Given the description of an element on the screen output the (x, y) to click on. 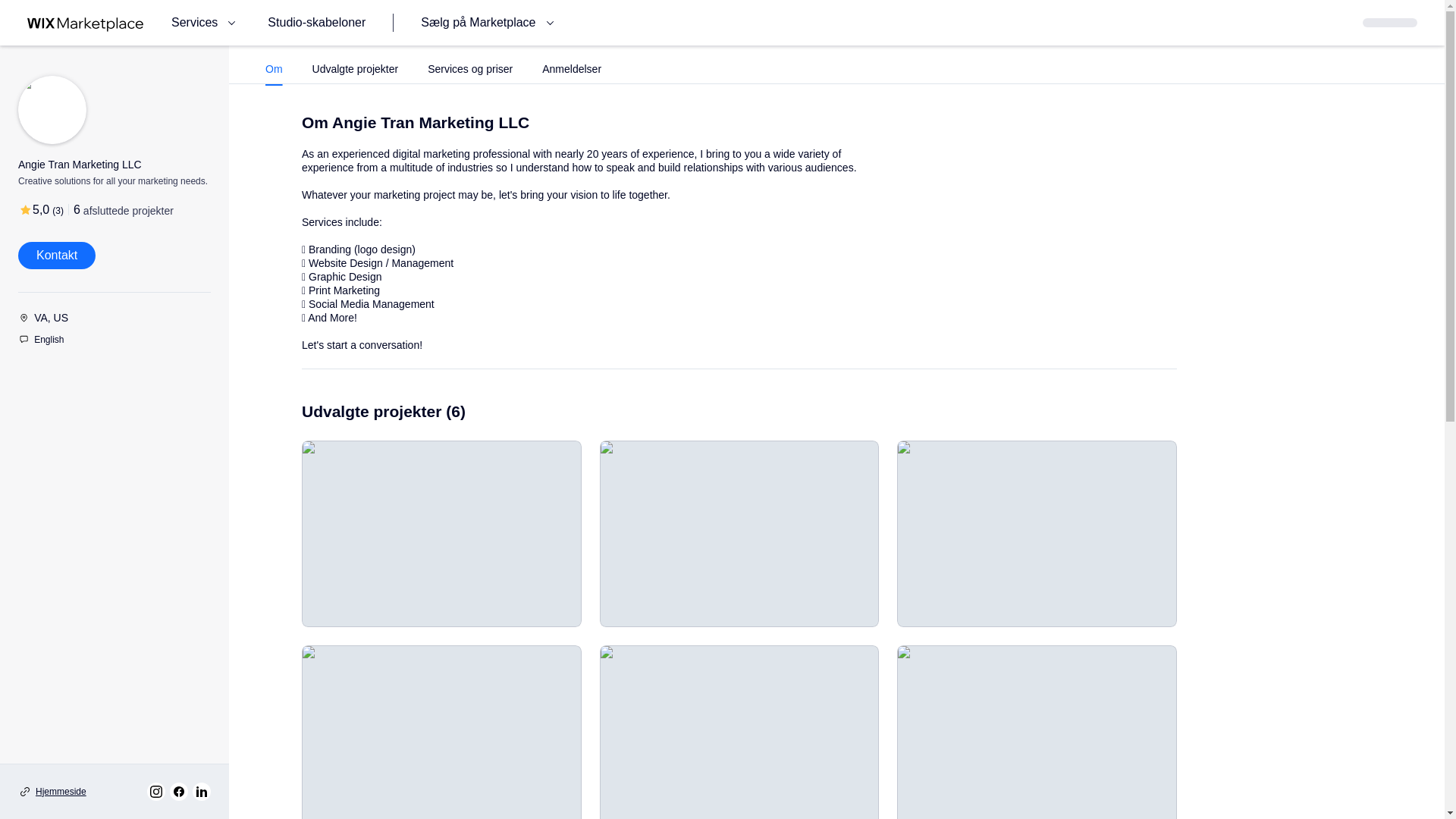
Services (205, 22)
Studio-skabeloner (316, 22)
